Given the description of an element on the screen output the (x, y) to click on. 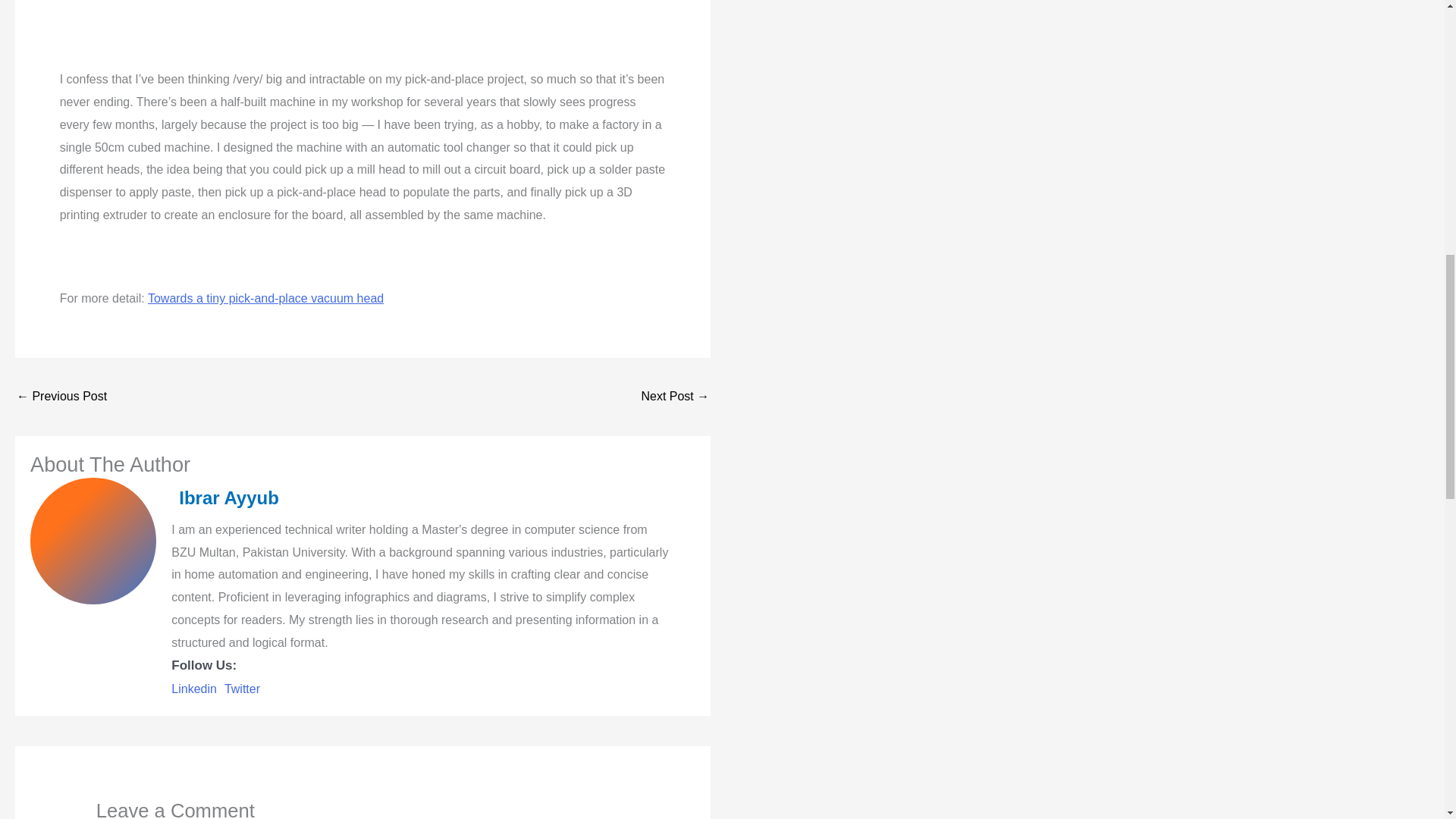
Green house intelligent control system (61, 397)
Towards a tiny pick-and-place vacuum head (266, 297)
